Given the description of an element on the screen output the (x, y) to click on. 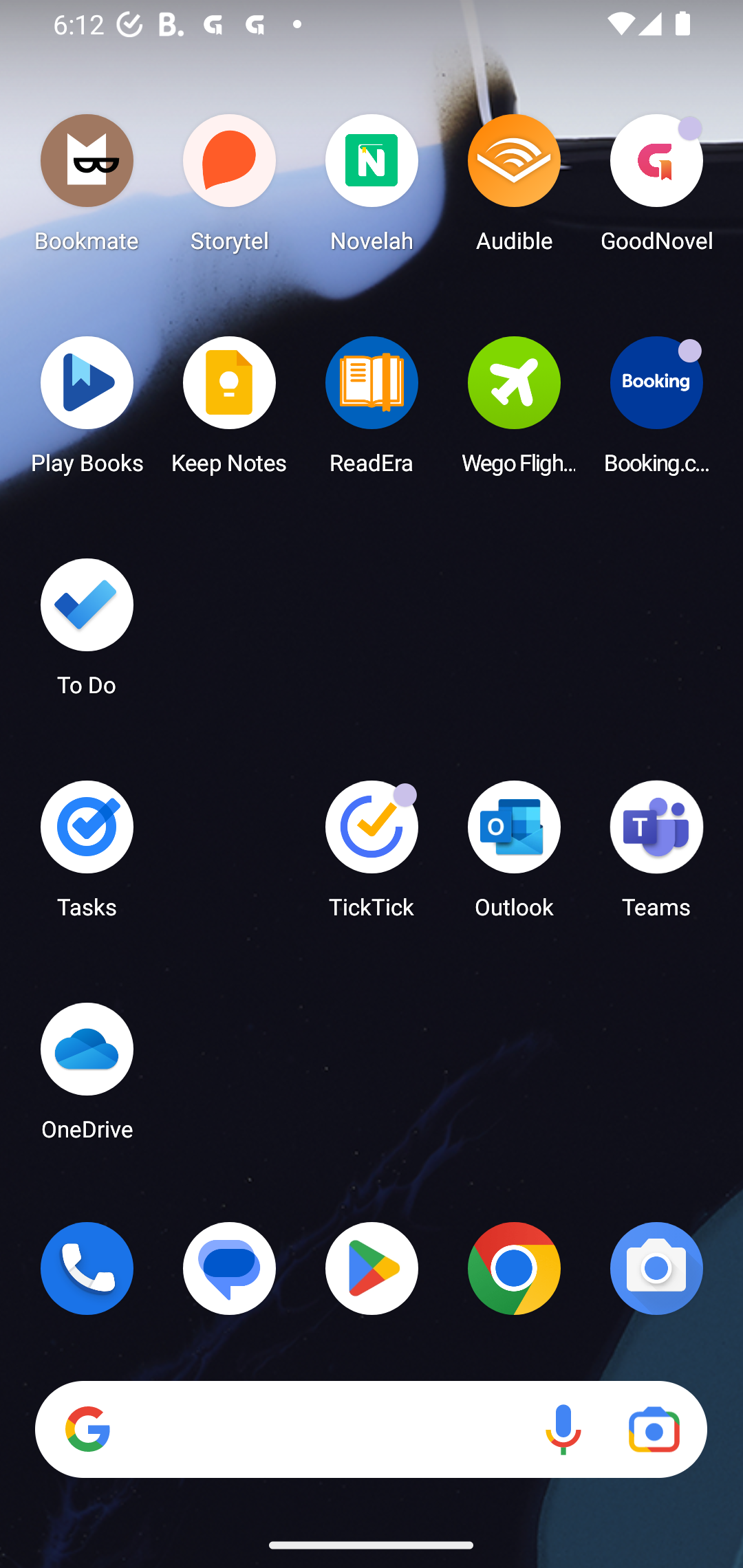
Bookmate (86, 188)
Storytel (229, 188)
Novelah (371, 188)
Audible (513, 188)
GoodNovel GoodNovel has 19 notifications (656, 188)
Play Books (86, 410)
Keep Notes (229, 410)
ReadEra (371, 410)
Wego Flights & Hotels (513, 410)
Booking.com Booking.com has 1 notification (656, 410)
To Do (86, 633)
Tasks (86, 854)
TickTick TickTick has 3 notifications (371, 854)
Outlook (513, 854)
Teams (656, 854)
OneDrive (86, 1076)
Phone (86, 1268)
Messages (229, 1268)
Play Store (371, 1268)
Chrome (513, 1268)
Camera (656, 1268)
Search Voice search Google Lens (370, 1429)
Voice search (562, 1429)
Google Lens (653, 1429)
